Given the description of an element on the screen output the (x, y) to click on. 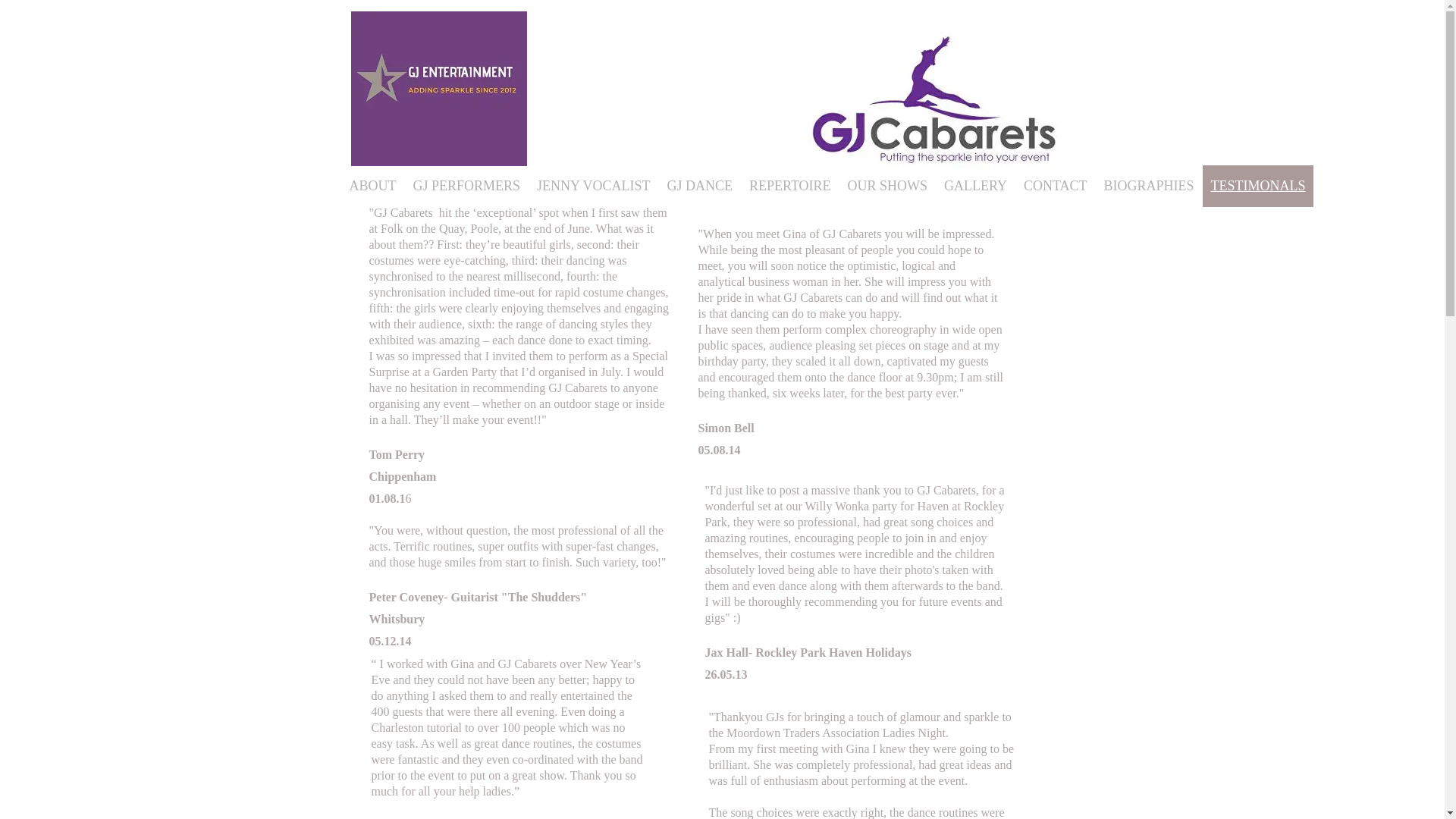
GJ DANCE (698, 186)
ABOUT (372, 186)
OUR SHOWS (888, 186)
GJ PERFORMERS (466, 186)
REPERTOIRE (790, 186)
JENNY VOCALIST (593, 186)
GALLERY (975, 186)
BIOGRAPHIES (1149, 186)
CONTACT (1055, 186)
TESTIMONALS (1258, 186)
